Given the description of an element on the screen output the (x, y) to click on. 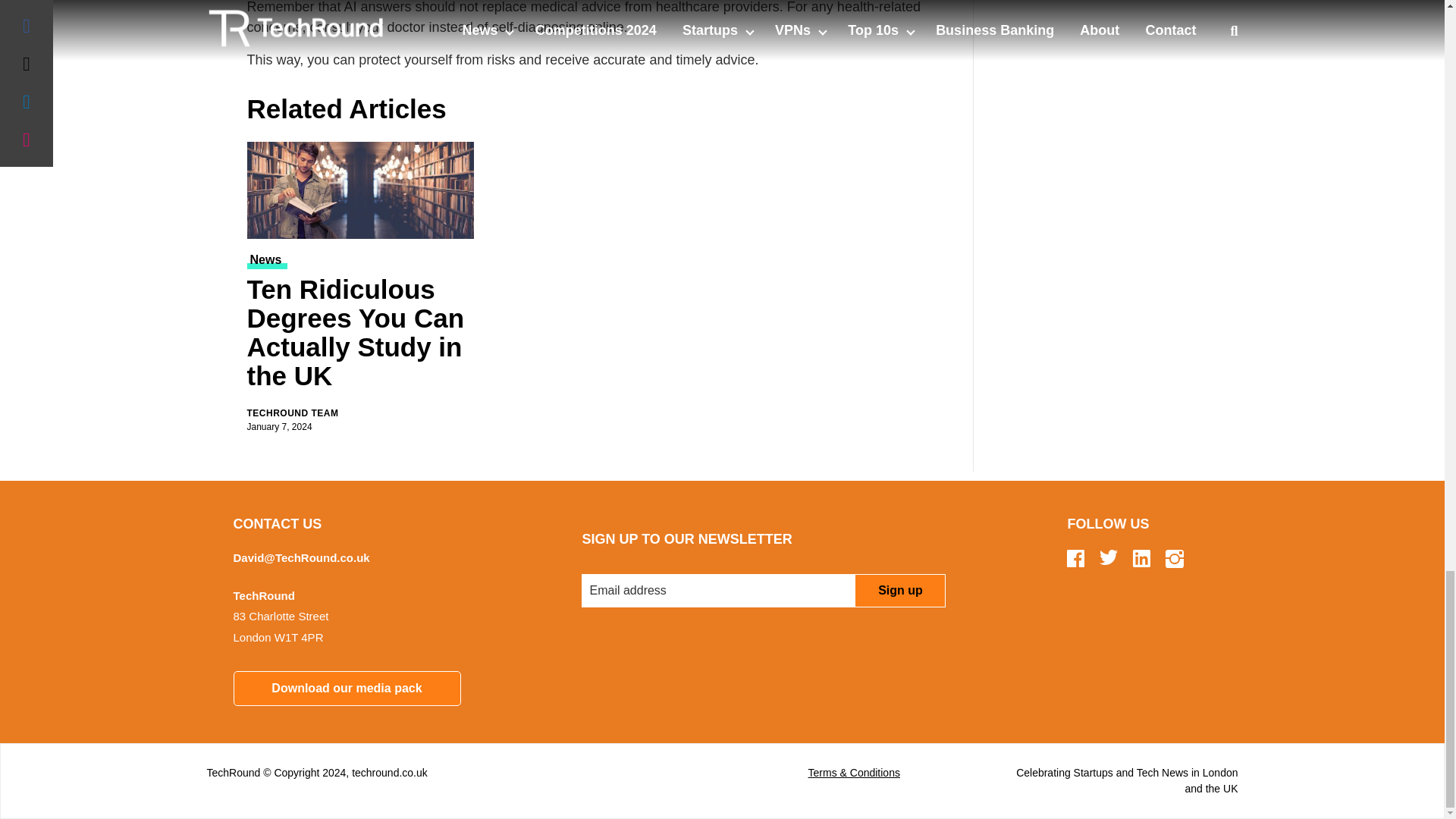
Ten Ridiculous Degrees You Can Actually Study in the UK (360, 190)
Sign up (899, 590)
Ten Ridiculous Degrees You Can Actually Study in the UK (360, 335)
